Given the description of an element on the screen output the (x, y) to click on. 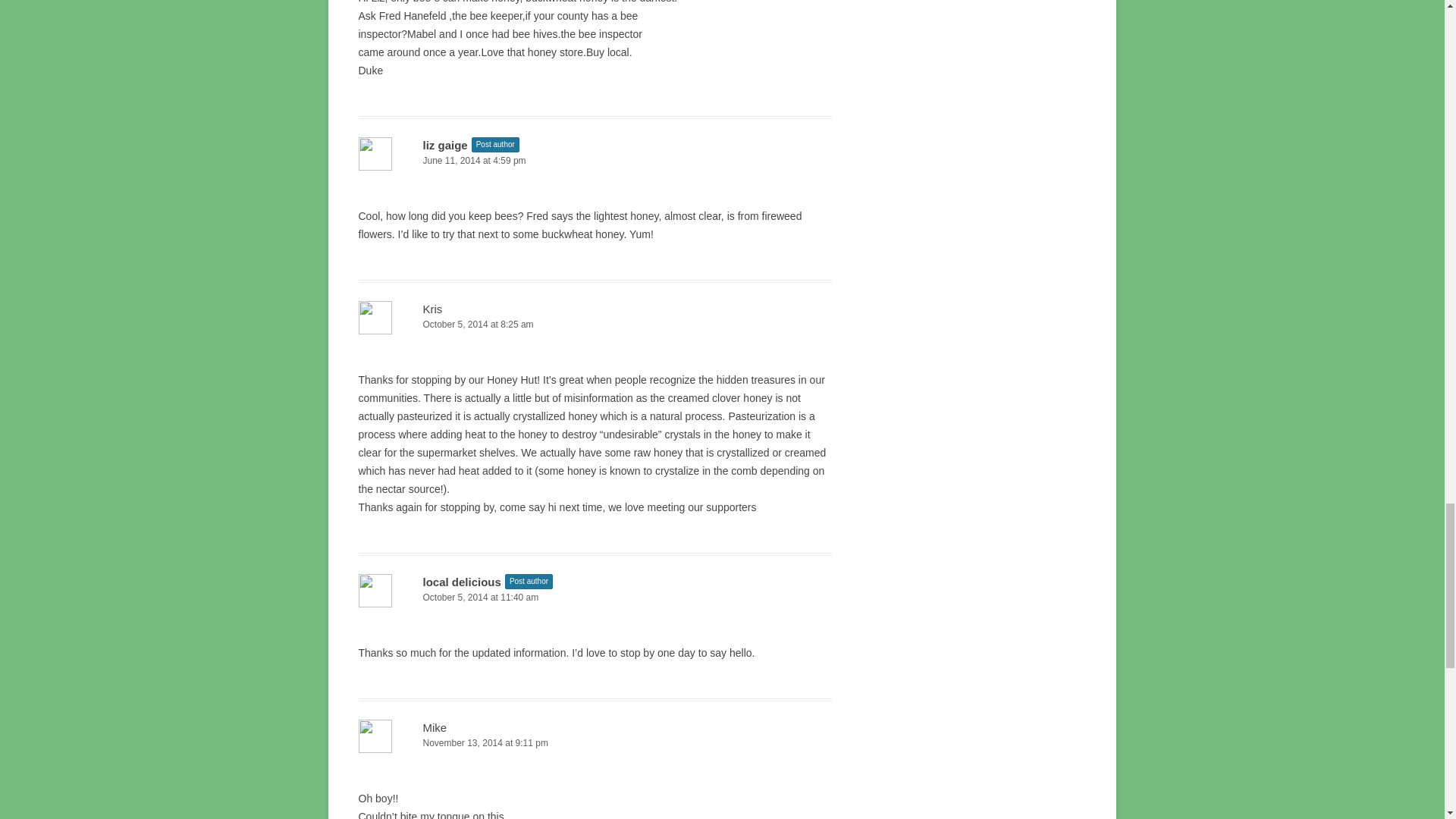
local delicious (461, 581)
October 5, 2014 at 8:25 am (594, 324)
October 5, 2014 at 11:40 am (594, 597)
June 11, 2014 at 4:59 pm (594, 160)
Kris (432, 308)
liz gaige (445, 144)
